Given the description of an element on the screen output the (x, y) to click on. 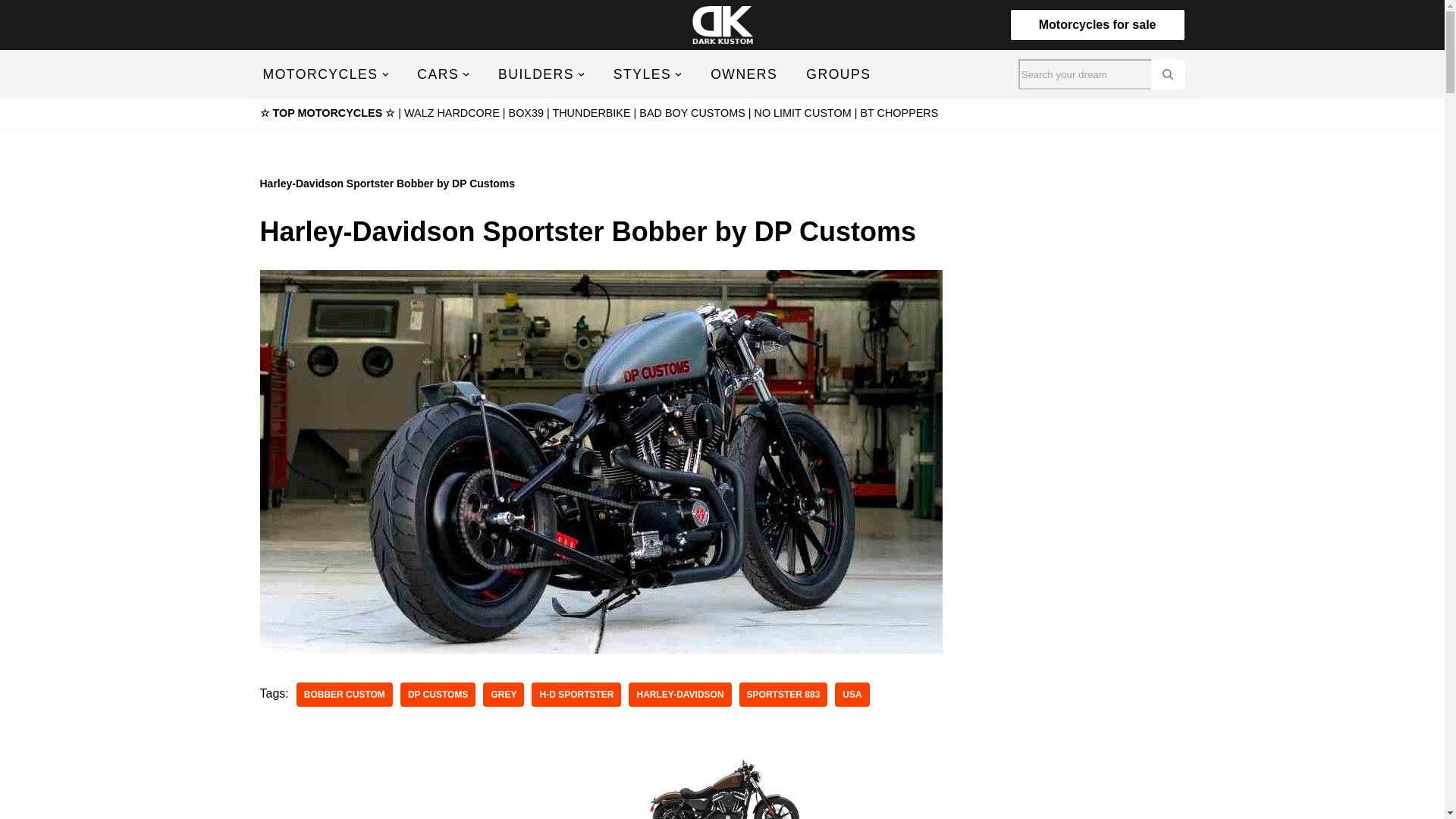
Harley-Davidson (679, 694)
H-D Sportster (576, 694)
sportster 883 (783, 694)
Motorcycles for sale (1097, 24)
Skip to content (11, 31)
grey (503, 694)
usa (851, 694)
Bobber Custom (345, 694)
DP Customs (438, 694)
MOTORCYCLES (319, 74)
